Given the description of an element on the screen output the (x, y) to click on. 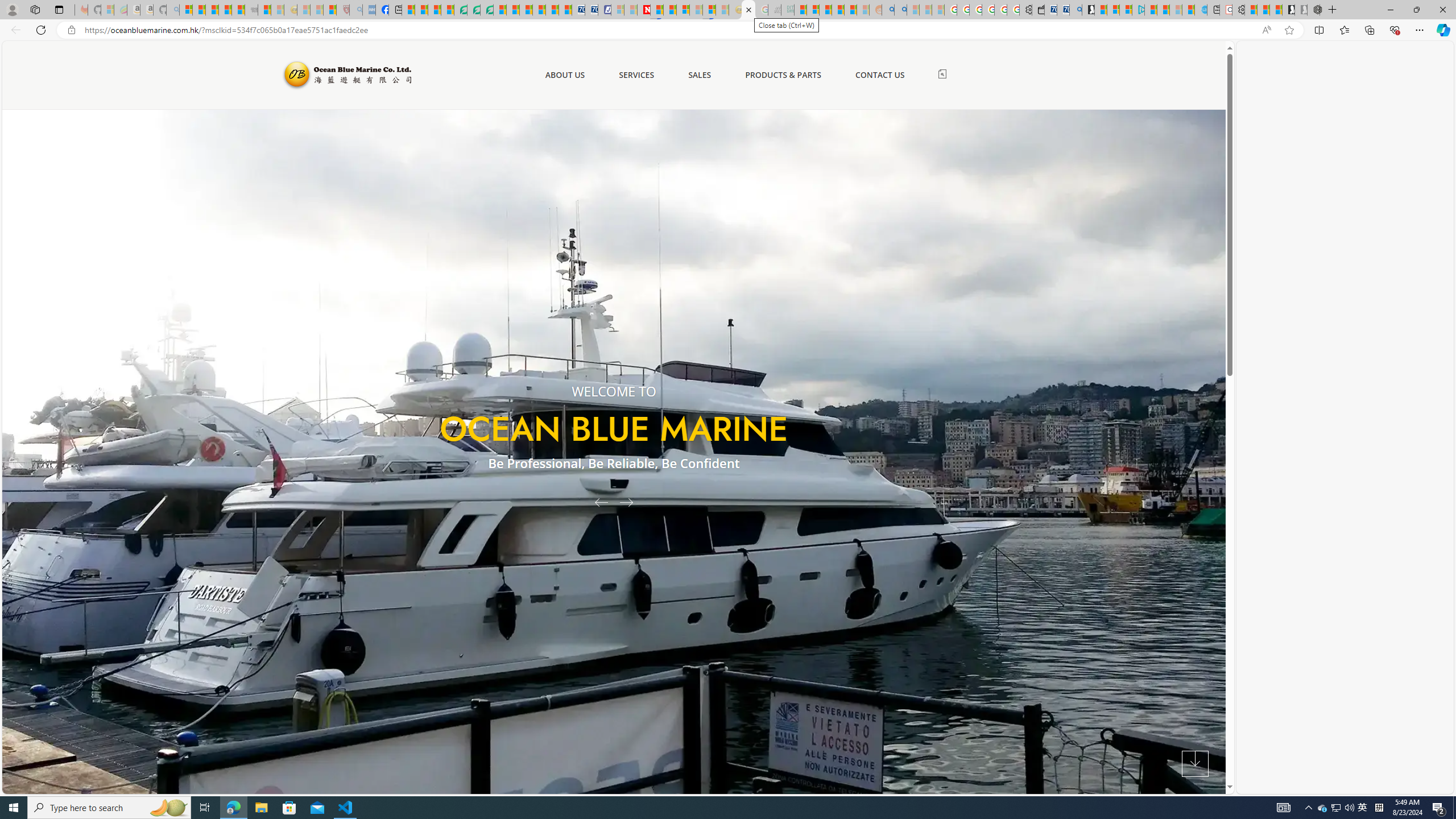
CONTACT US (879, 74)
Wallet (1037, 9)
